Given the description of an element on the screen output the (x, y) to click on. 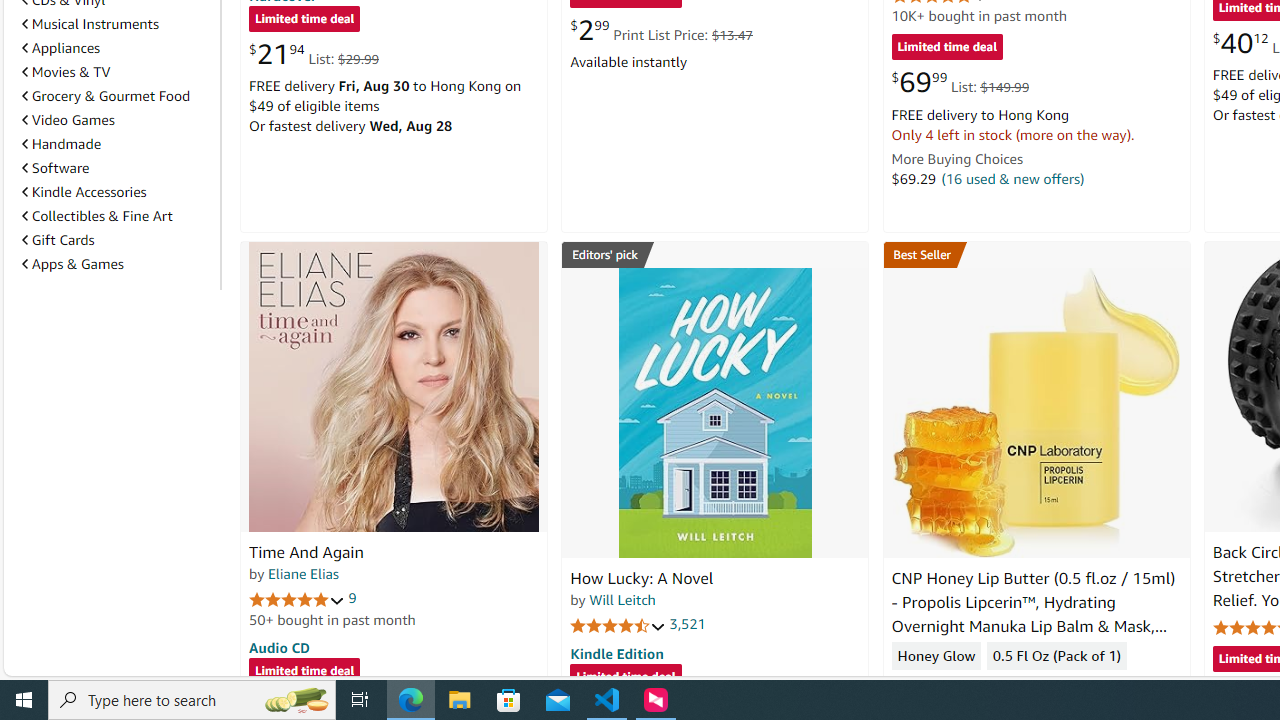
Best Seller in Lip Butters (1036, 254)
Kindle Accessories (84, 191)
Video Games (68, 119)
4.3 out of 5 stars (939, 685)
Time And Again (306, 552)
Appliances (117, 48)
Gift Cards (57, 240)
$2.99 Print List Price: $13.47 (660, 30)
$21.94 List: $29.99 (314, 54)
Appliances (61, 47)
Editors' pick Best Mystery, Thriller & Suspense (715, 254)
Apps & Games (117, 264)
Movies & TV (66, 71)
Eliane Elias (303, 573)
